Given the description of an element on the screen output the (x, y) to click on. 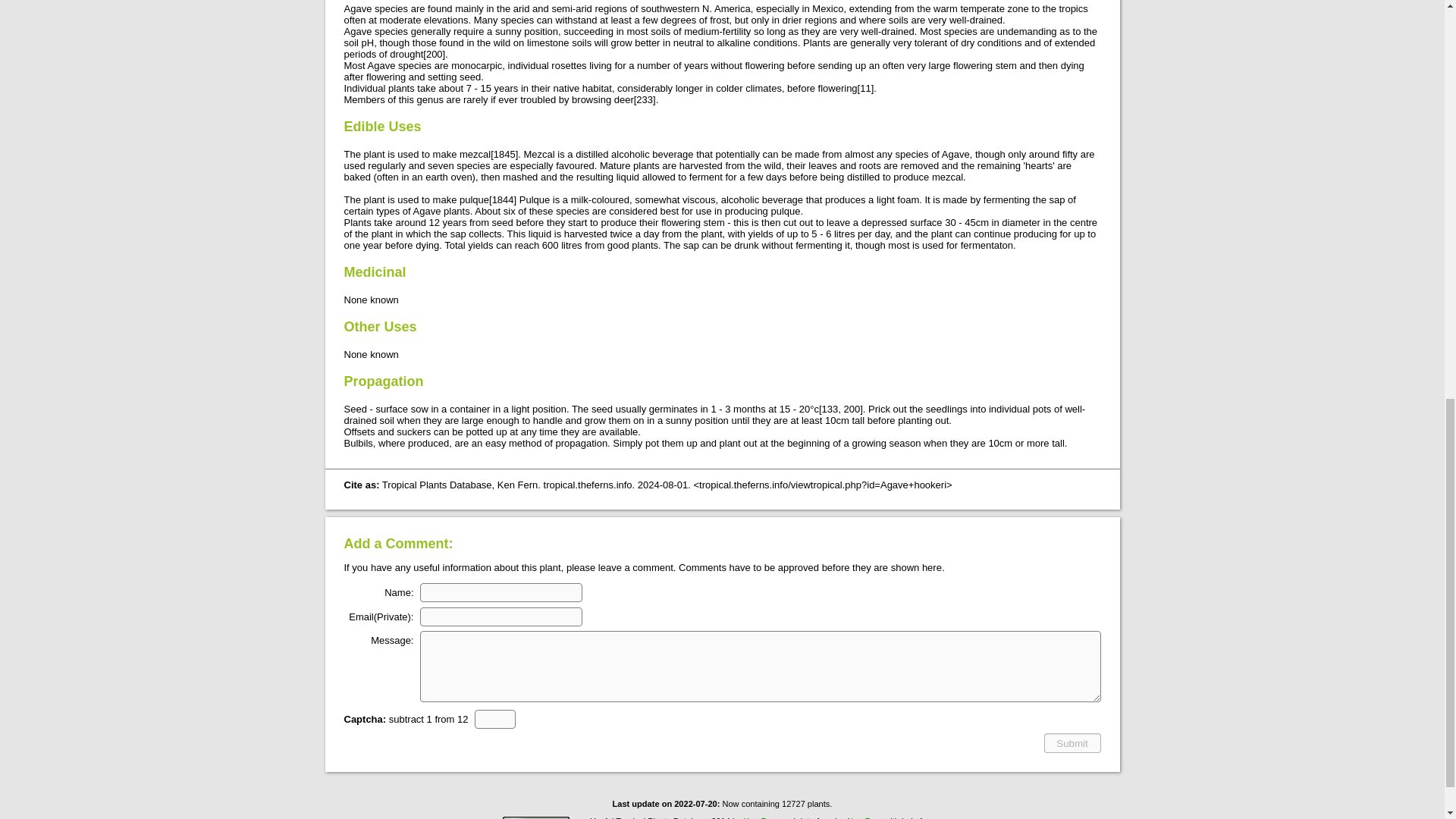
Submit (1071, 742)
233 (644, 99)
133 (830, 408)
Ken Fern (760, 817)
200 (434, 53)
1845 (504, 153)
1844 (502, 199)
Submit (1071, 742)
200 (851, 408)
Ajna Fern (863, 817)
11 (865, 88)
